Given the description of an element on the screen output the (x, y) to click on. 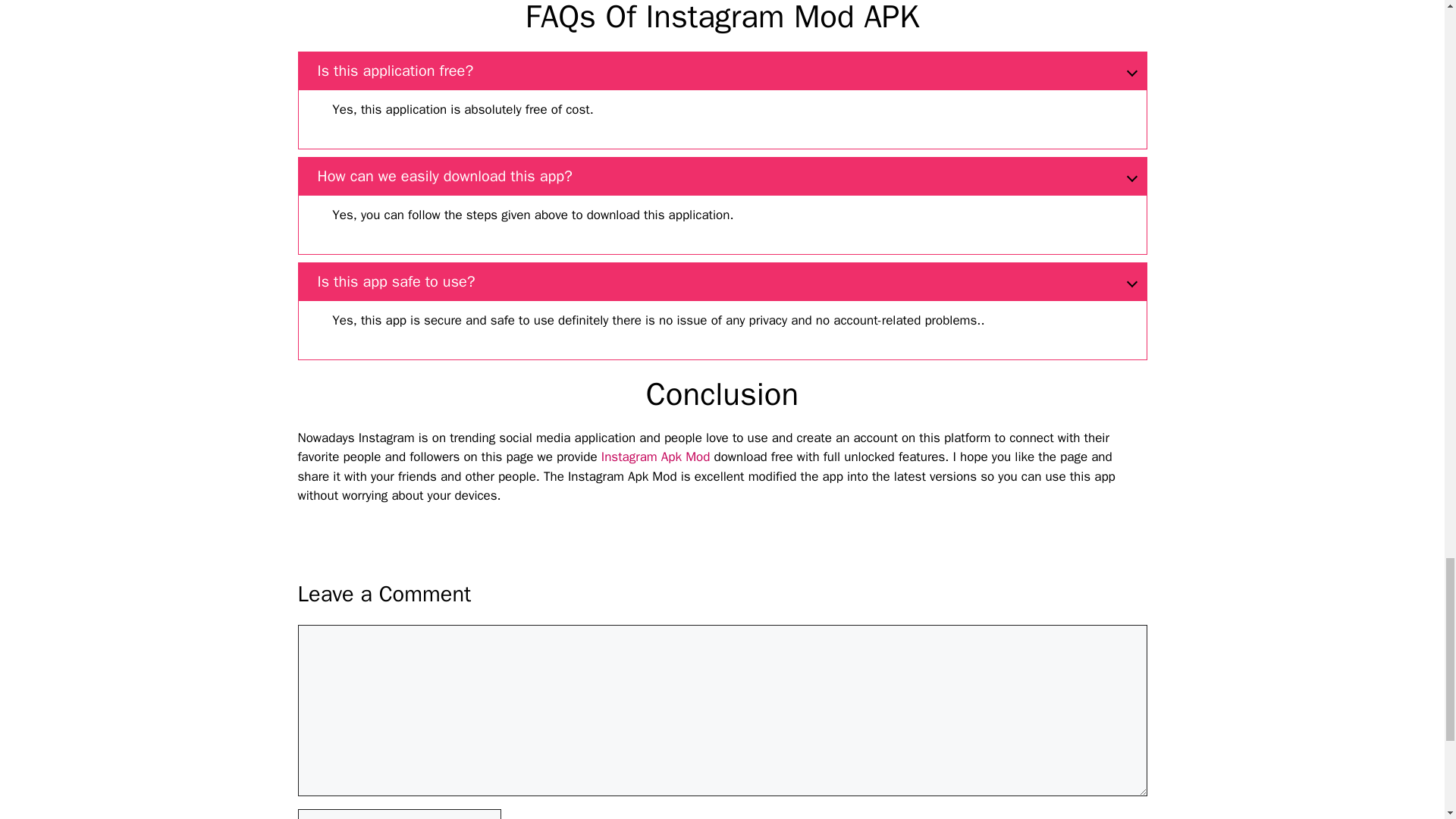
Instagram Apk Mod (655, 456)
